Given the description of an element on the screen output the (x, y) to click on. 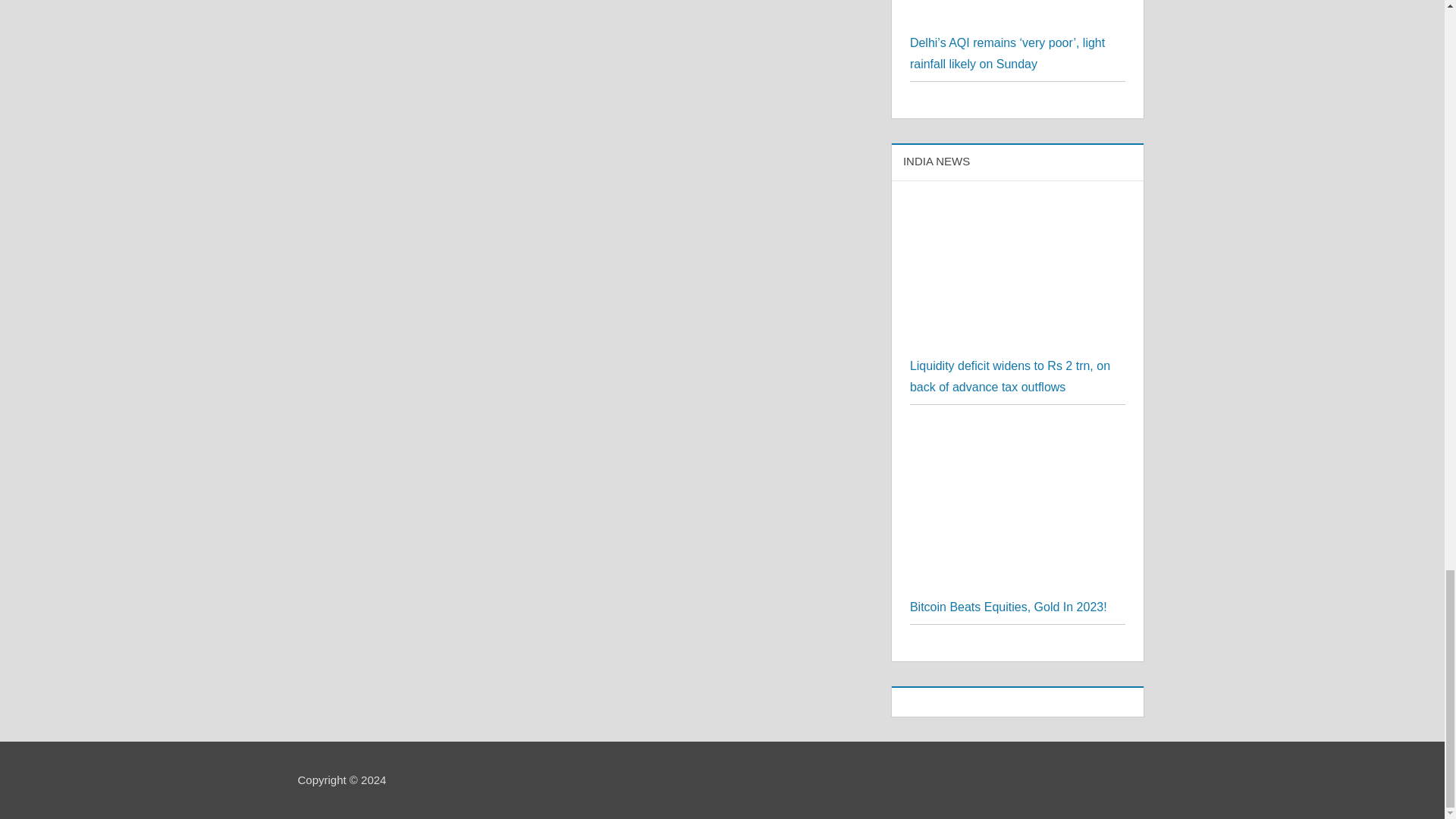
Bitcoin Beats Equities, Gold In 2023! (1017, 510)
Bitcoin Beats Equities, Gold In 2023! (1017, 432)
Bitcoin Beats Equities, Gold In 2023! (1008, 606)
